Given the description of an element on the screen output the (x, y) to click on. 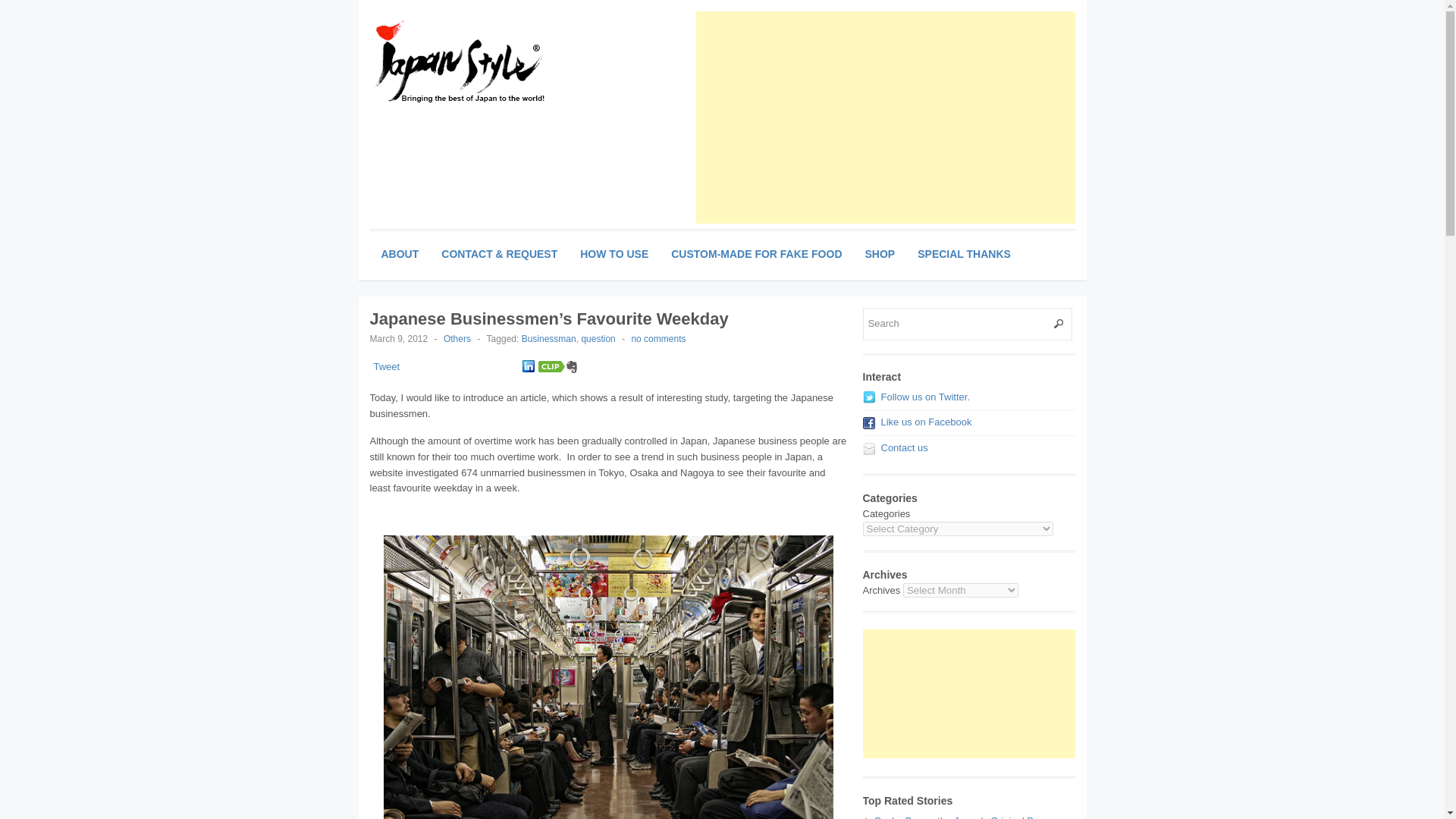
Follow us on Twitter. (925, 396)
Search (967, 323)
CUSTOM-MADE FOR FAKE FOOD (756, 254)
Advertisement (937, 117)
Contact us (904, 447)
Others (457, 338)
no comments (657, 338)
Follow us on twitter (925, 396)
ABOUT (399, 254)
Share on LinkedIn (527, 366)
SPECIAL THANKS (963, 254)
SHOP (880, 254)
Japanese businessmen (608, 677)
question (597, 338)
Share on LinkedIn (527, 366)
